Given the description of an element on the screen output the (x, y) to click on. 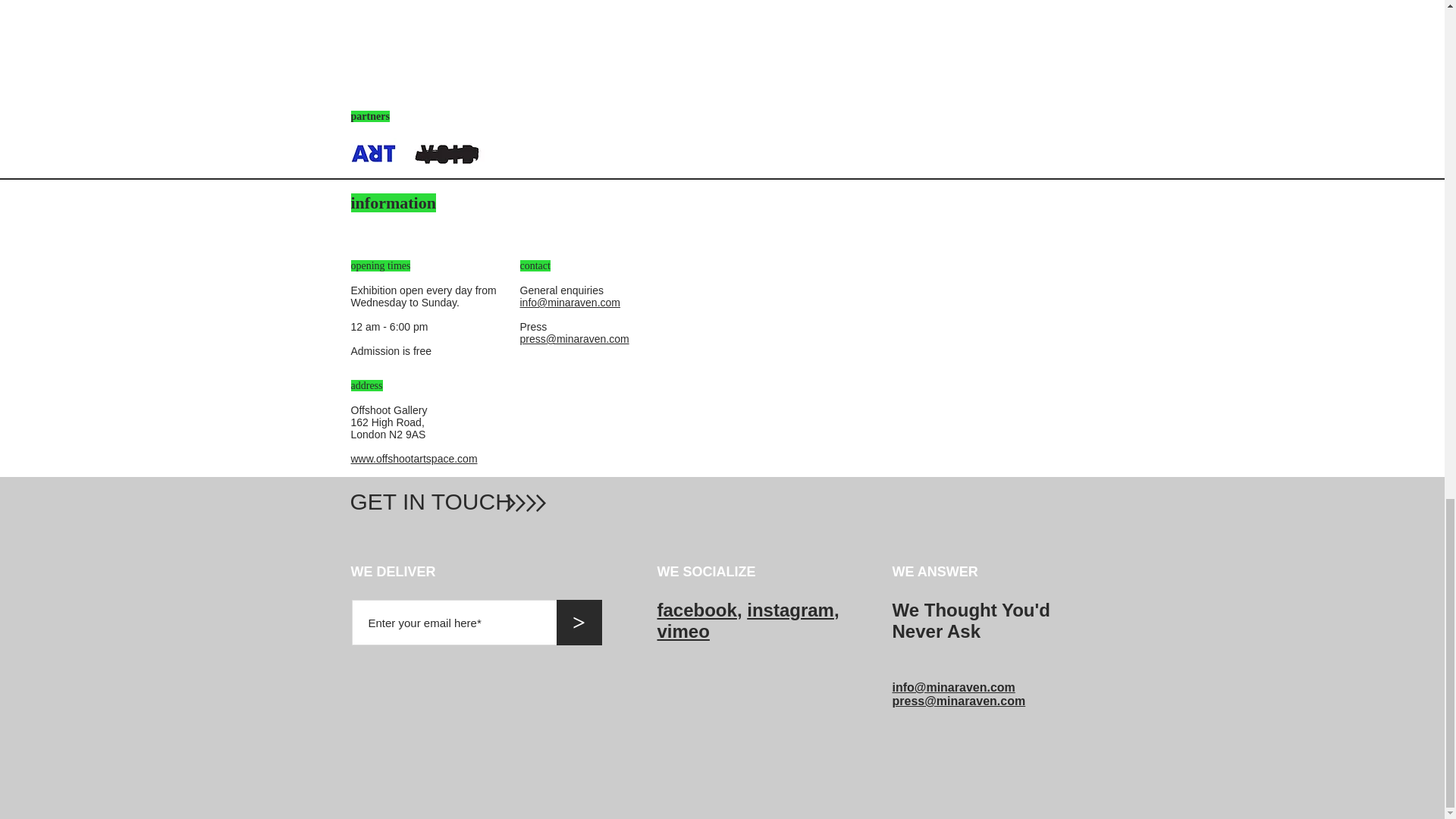
Offshoot Gallery (388, 410)
facebook (696, 609)
instagram (790, 609)
vimeo (682, 630)
www.offshootartspace.com (413, 458)
Never Ask (935, 630)
We Thought You'd (970, 609)
